Given the description of an element on the screen output the (x, y) to click on. 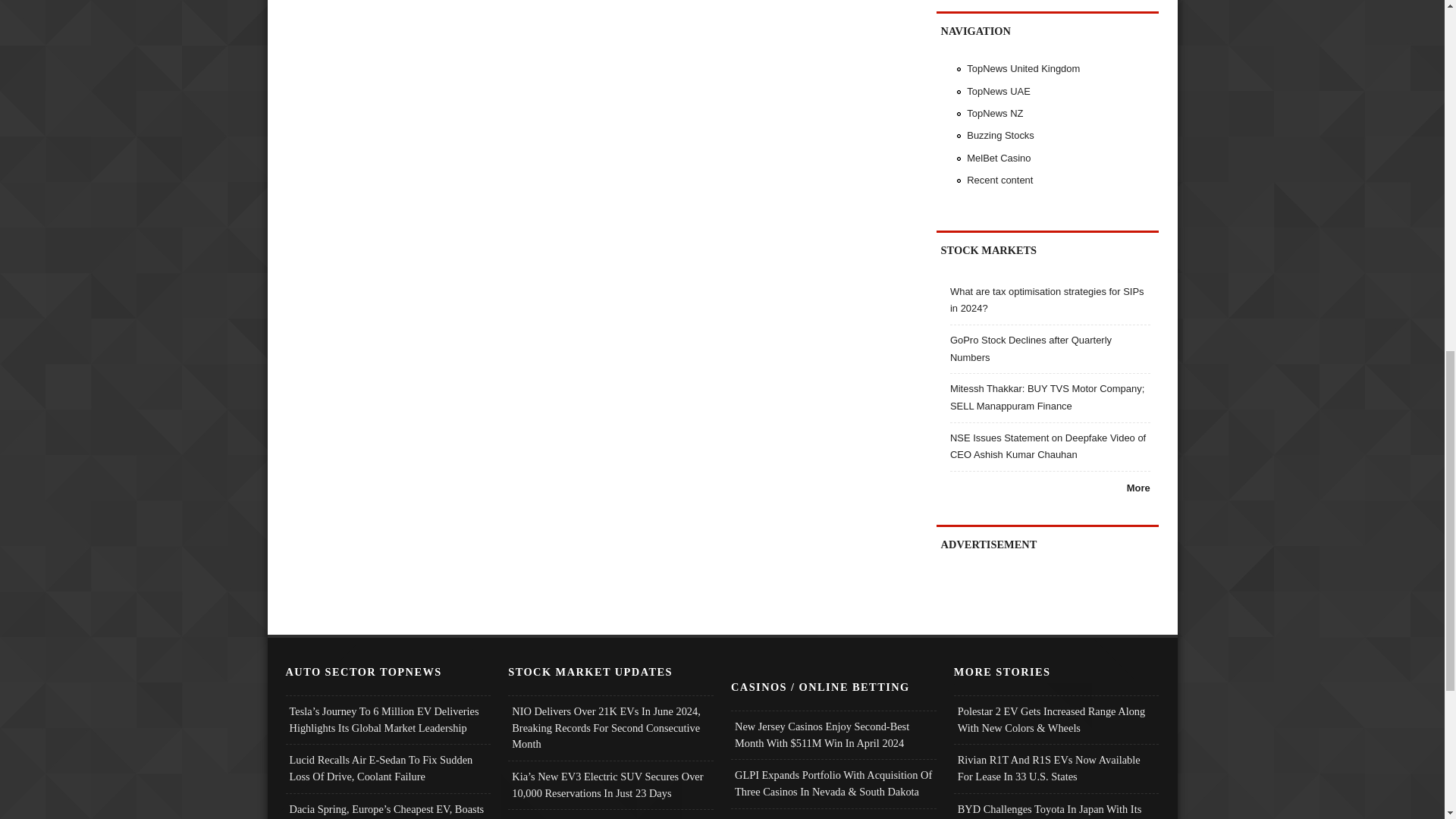
TopNews United Kingdom (1023, 68)
TopNews UAE (998, 91)
Buzzing Stocks (999, 134)
MelBet Casino (998, 157)
TopNews NZ (994, 112)
What are tax optimisation strategies for SIPs in 2024? (1047, 299)
Recent content (999, 179)
